Given the description of an element on the screen output the (x, y) to click on. 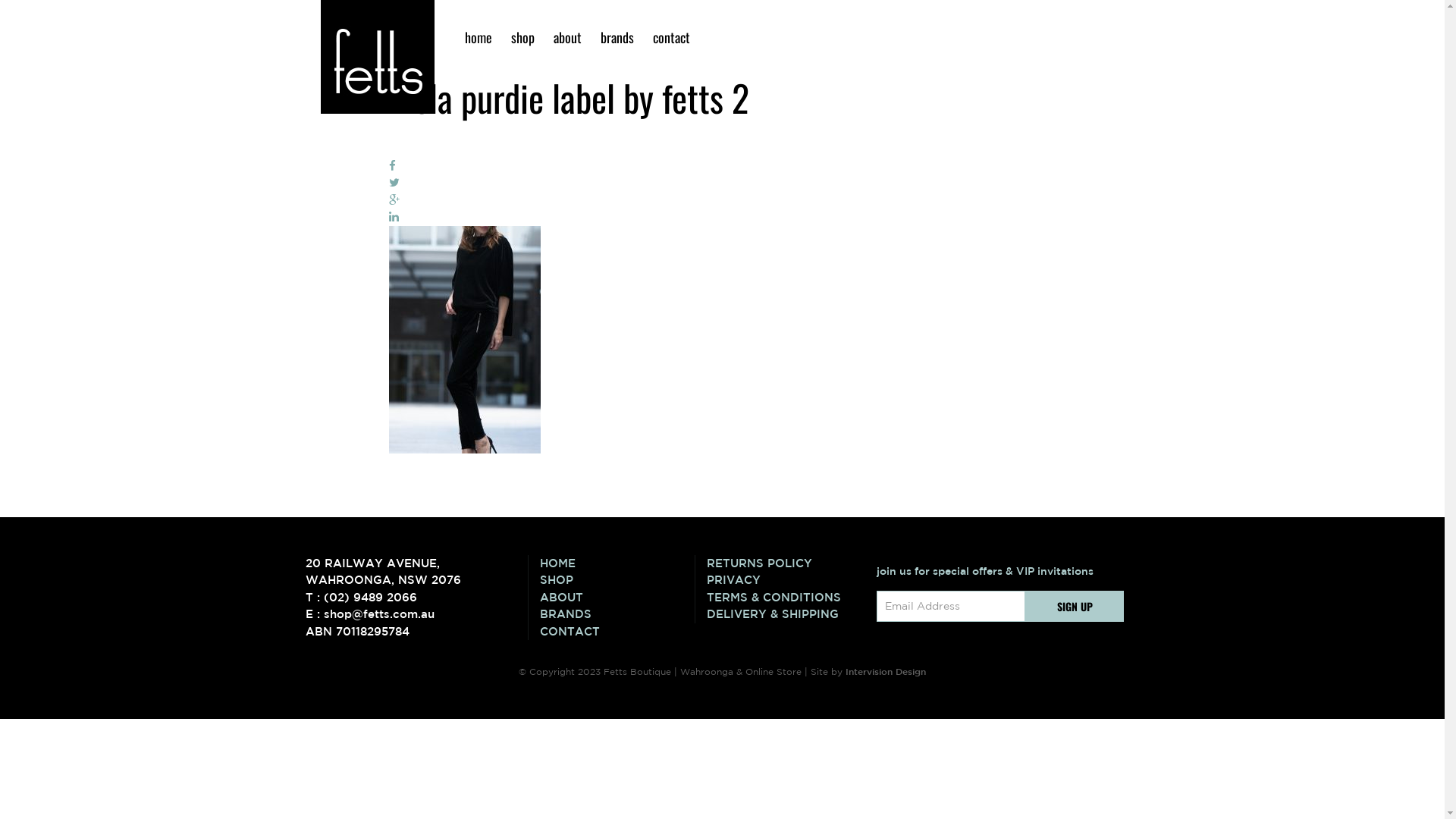
BRANDS Element type: text (616, 614)
HOME Element type: text (616, 563)
SHOP Element type: text (616, 580)
ABOUT Element type: text (616, 597)
RETURNS POLICY Element type: text (783, 563)
Sign Up Element type: text (1074, 605)
Intervision Design Element type: text (885, 670)
PRIVACY Element type: text (783, 580)
TERMS & CONDITIONS Element type: text (783, 597)
shop Element type: text (522, 36)
about Element type: text (567, 36)
home Element type: text (477, 36)
brands Element type: text (617, 36)
contact Element type: text (670, 36)
DELIVERY & SHIPPING Element type: text (783, 614)
CONTACT Element type: text (616, 631)
